Given the description of an element on the screen output the (x, y) to click on. 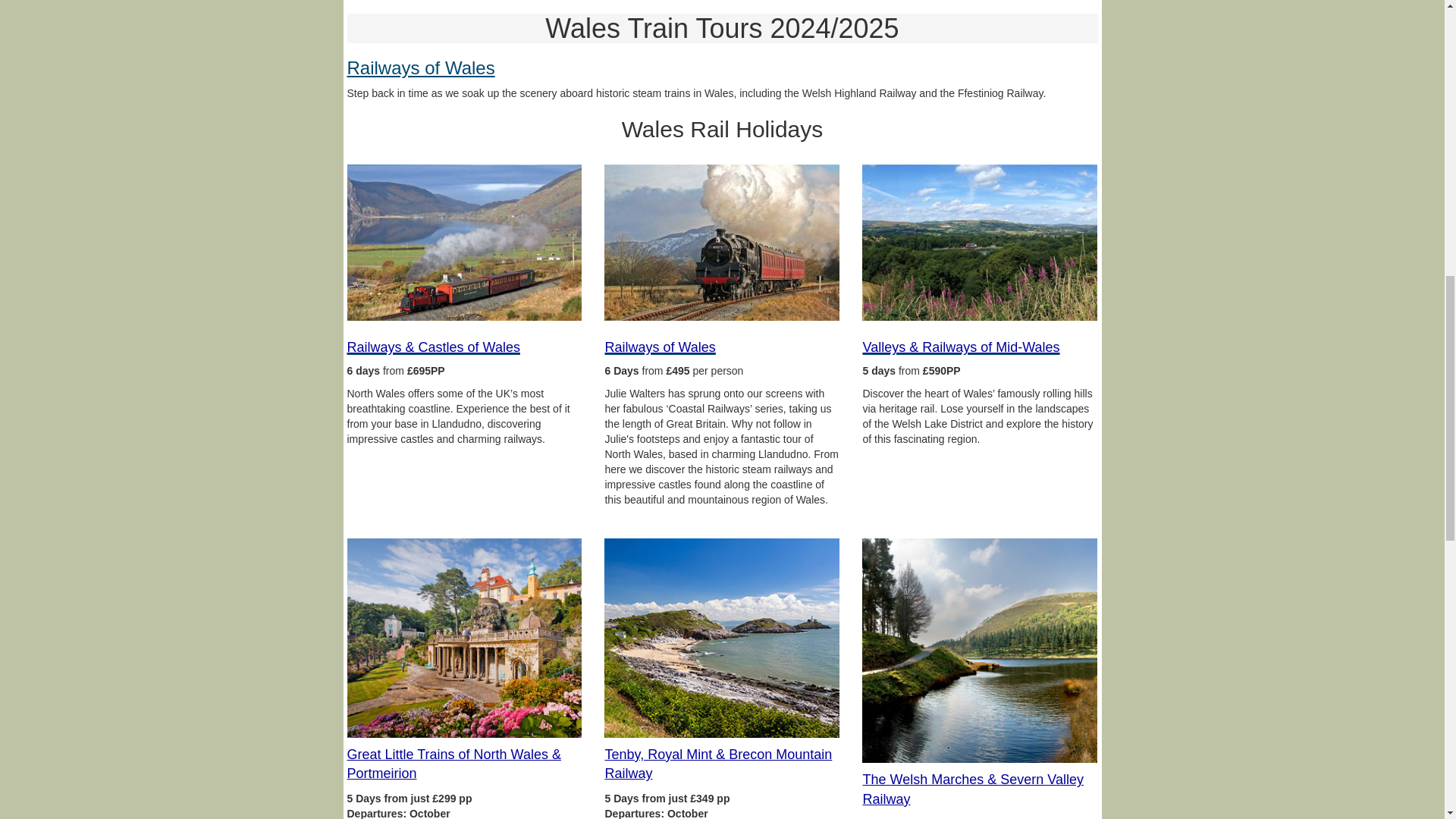
Coach Breaks (979, 650)
Coach Breaks (722, 637)
Coach Breaks (464, 637)
